Given the description of an element on the screen output the (x, y) to click on. 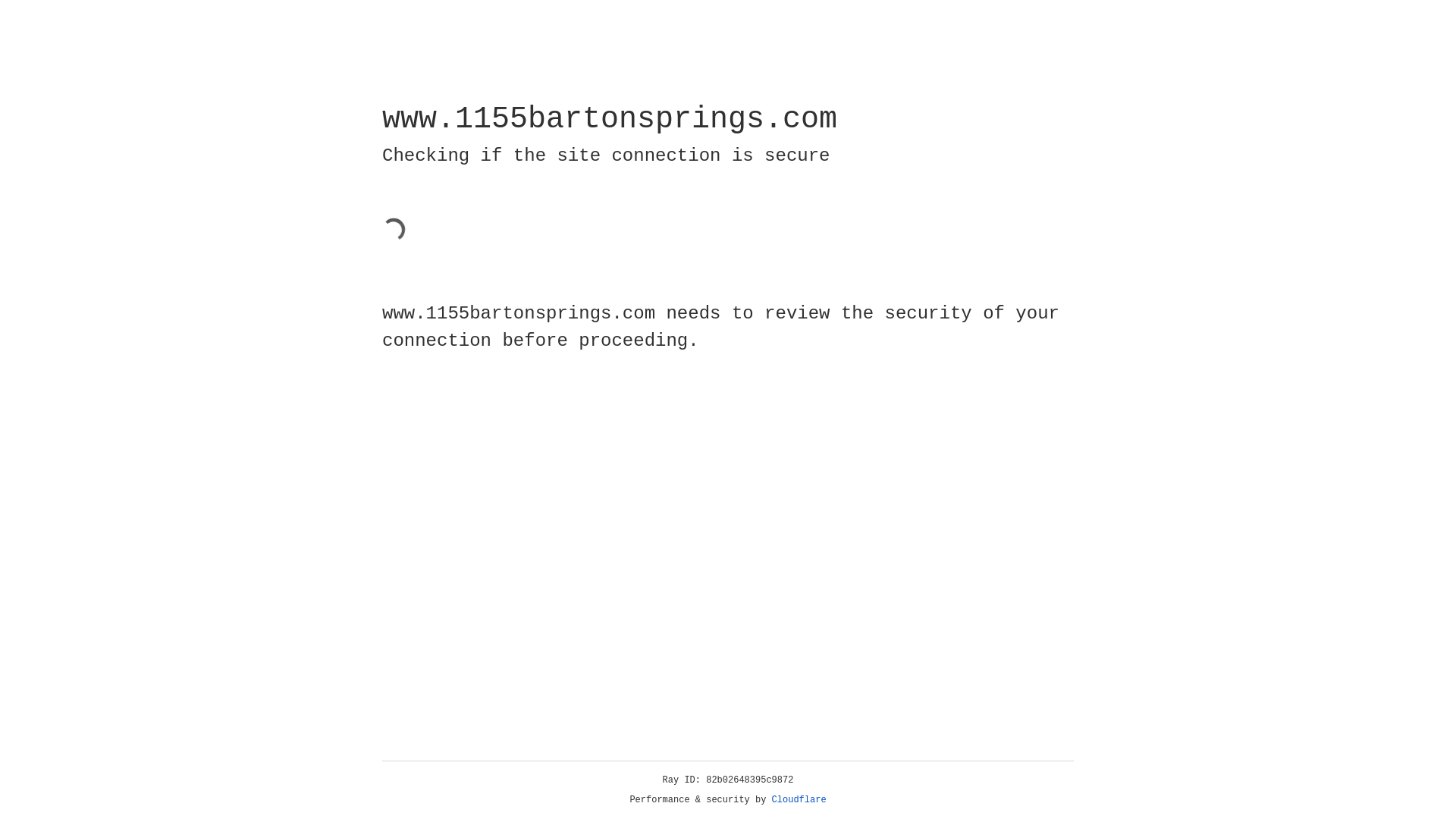
Cloudflare Element type: text (798, 799)
